Given the description of an element on the screen output the (x, y) to click on. 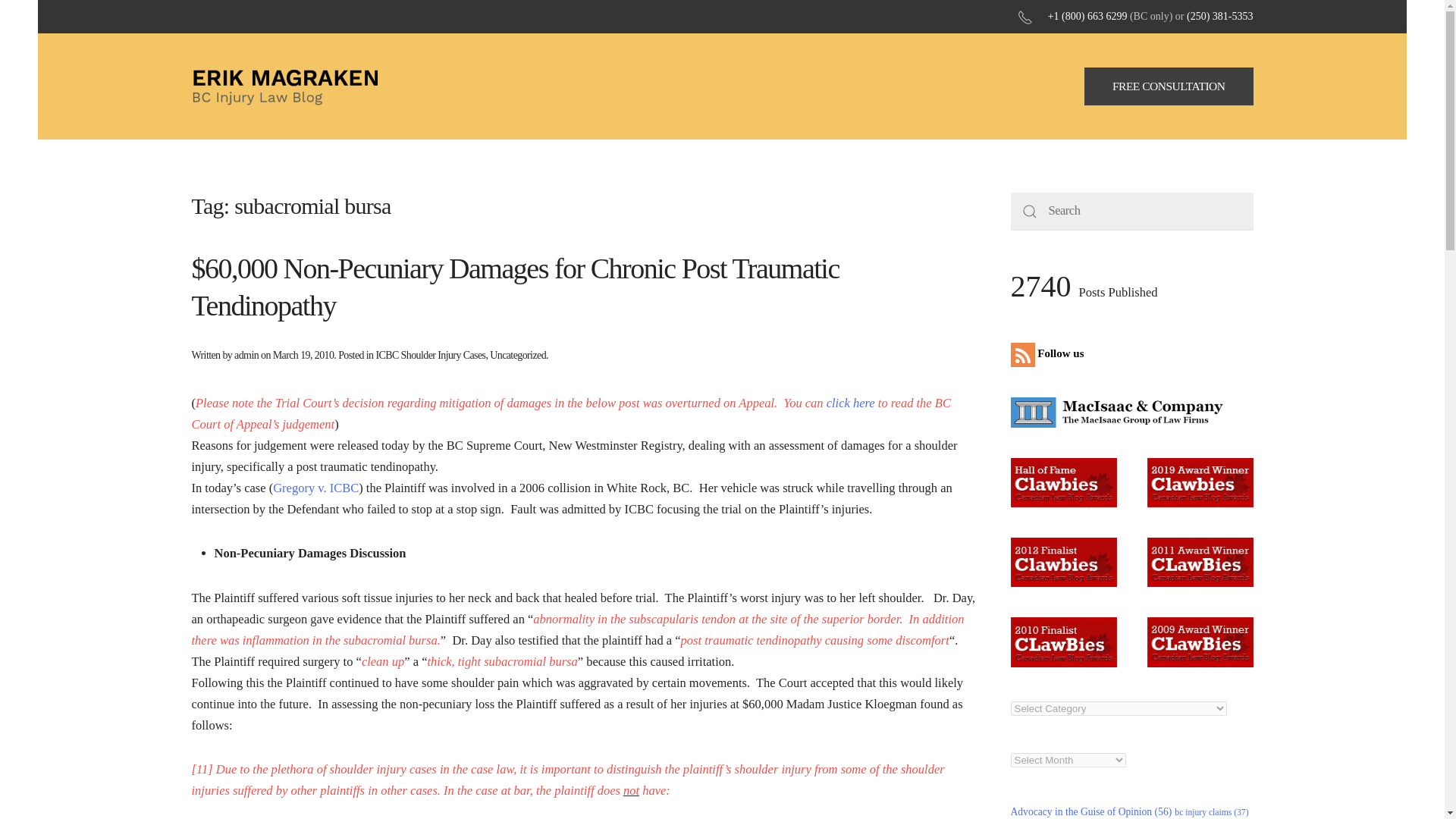
Gregory v. ICBC (315, 487)
admin (246, 355)
Follow us (1050, 353)
FREE CONSULTATION (1168, 86)
ICBC Shoulder Injury Cases (429, 355)
click here (849, 402)
Uncategorized (517, 355)
